Given the description of an element on the screen output the (x, y) to click on. 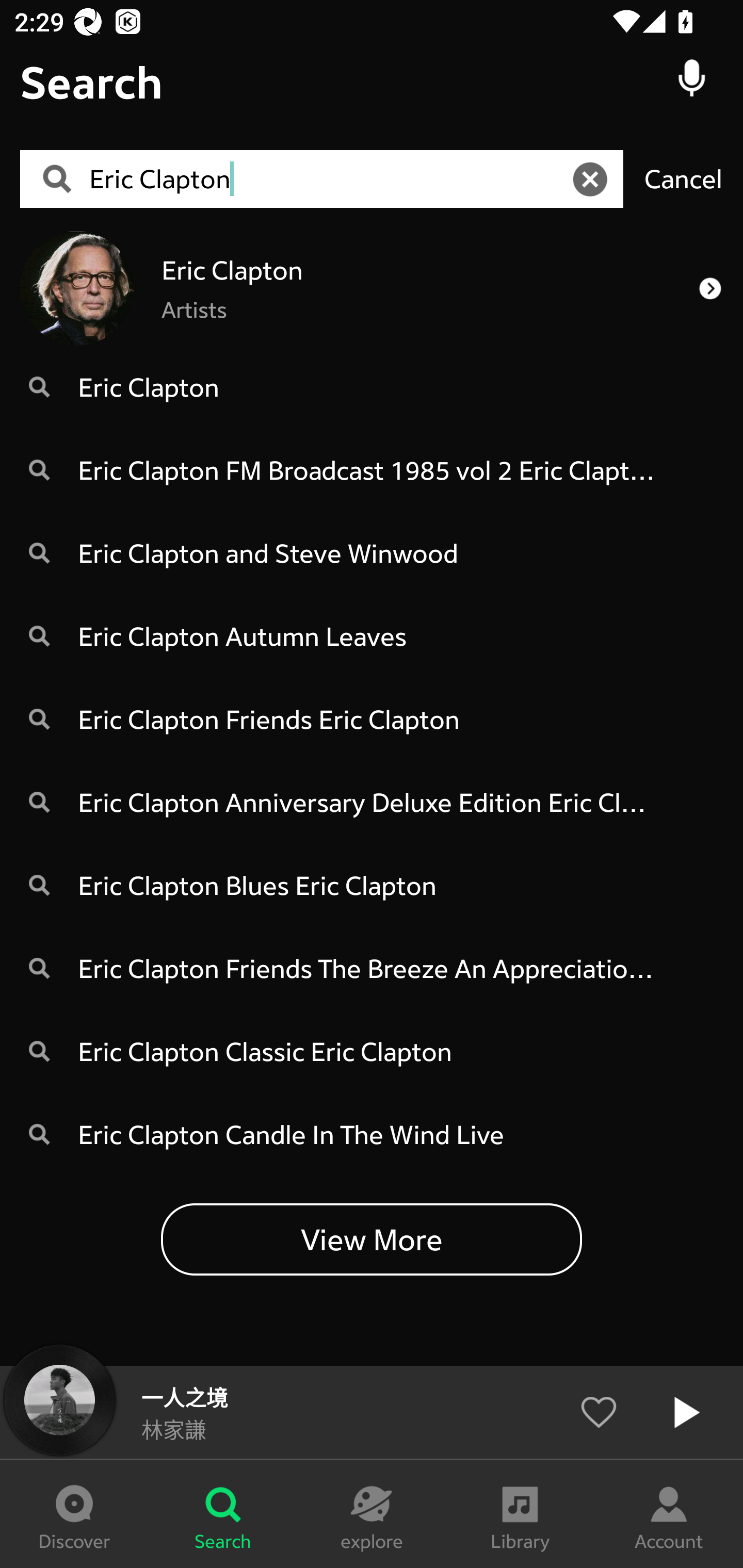
Cancel (683, 178)
Eric Clapton (327, 179)
Eric Clapton Artists (371, 288)
Eric Clapton (371, 386)
Eric Clapton FM Broadcast 1985 vol 2 Eric Clapton (371, 469)
Eric Clapton and Steve Winwood (371, 552)
Eric Clapton Autumn Leaves (371, 635)
Eric Clapton Friends Eric Clapton (371, 718)
Eric Clapton Blues Eric Clapton (371, 884)
Eric Clapton Classic Eric Clapton (371, 1050)
Eric Clapton Candle In The Wind Live (371, 1134)
View More (371, 1238)
一人之境 林家謙 (371, 1412)
Discover (74, 1513)
explore (371, 1513)
Library (519, 1513)
Account (668, 1513)
